Given the description of an element on the screen output the (x, y) to click on. 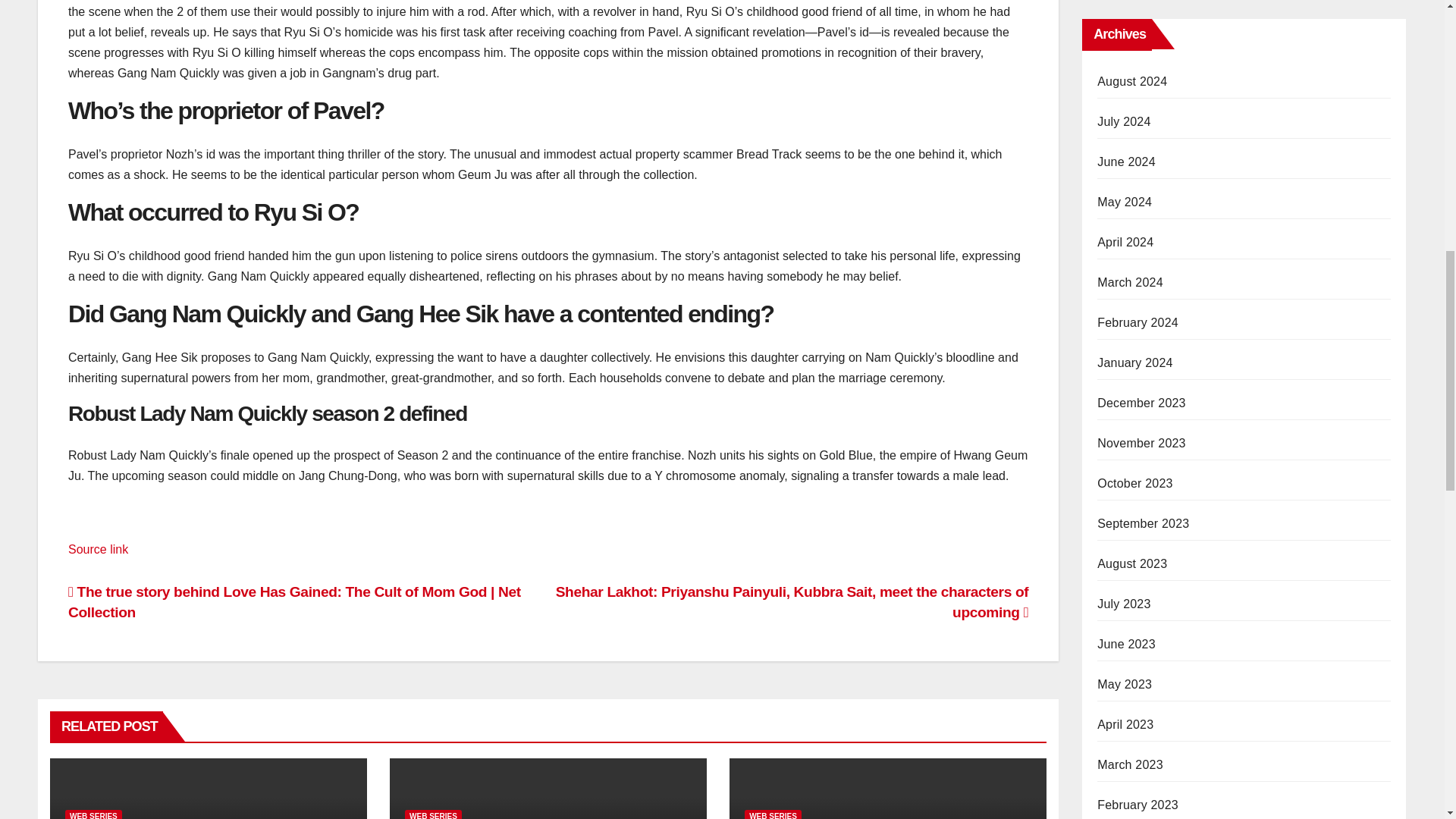
July 2024 (1123, 121)
WEB SERIES (432, 814)
Source link (98, 549)
August 2024 (1132, 81)
WEB SERIES (93, 814)
May 2024 (1124, 201)
June 2024 (1126, 161)
WEB SERIES (773, 814)
